Given the description of an element on the screen output the (x, y) to click on. 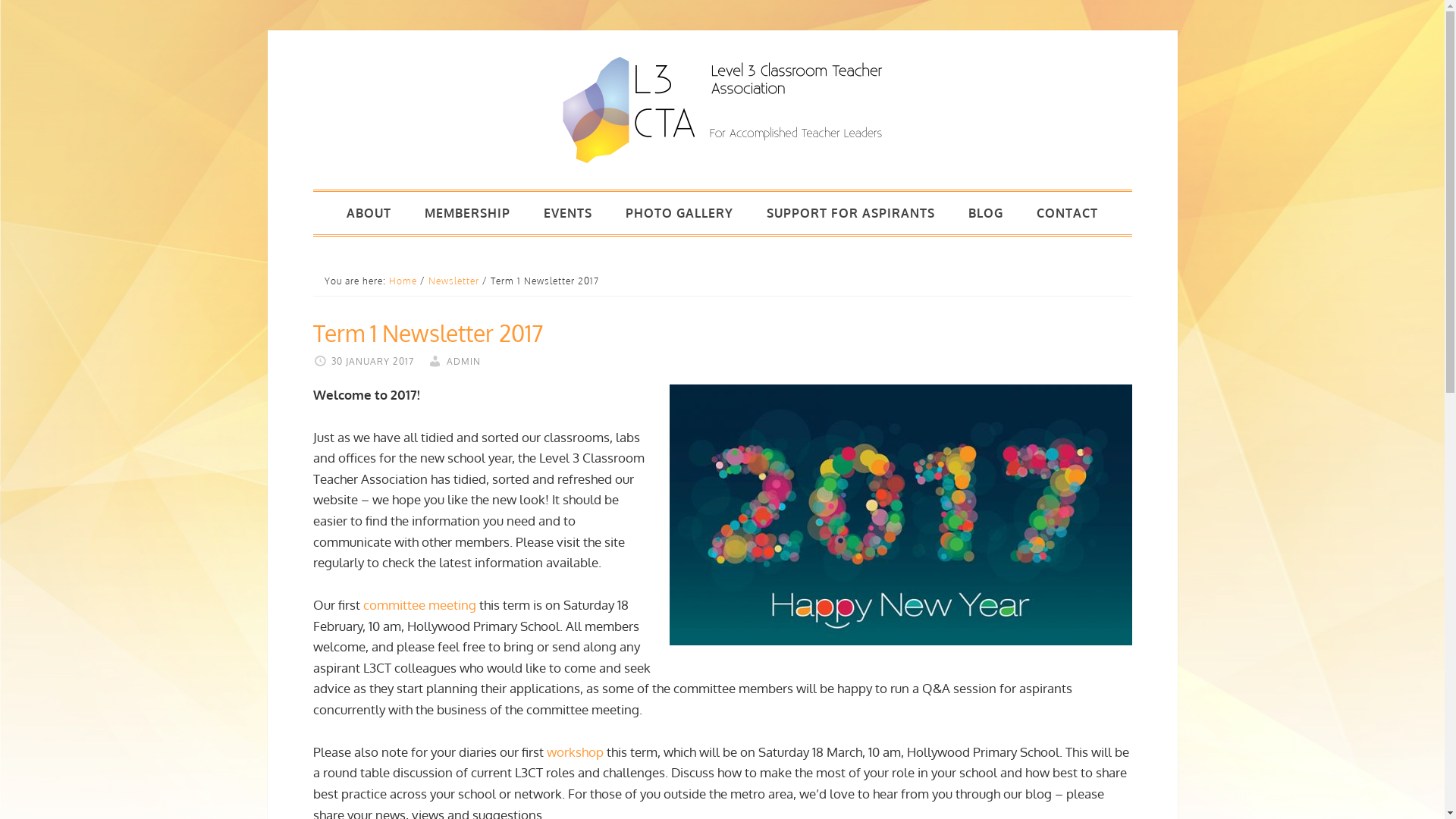
MEMBERSHIP Element type: text (467, 212)
Newsletter Element type: text (452, 280)
Home Element type: text (402, 280)
BLOG Element type: text (985, 212)
SUPPORT FOR ASPIRANTS Element type: text (850, 212)
EVENTS Element type: text (567, 212)
PHOTO GALLERY Element type: text (679, 212)
CONTACT Element type: text (1067, 212)
LEVEL 3 CLASSROOM TEACHER ASSOCIATION (L3CTA) Element type: text (721, 109)
committee meeting Element type: text (418, 604)
ADMIN Element type: text (462, 361)
ABOUT Element type: text (368, 212)
workshop Element type: text (574, 751)
